Given the description of an element on the screen output the (x, y) to click on. 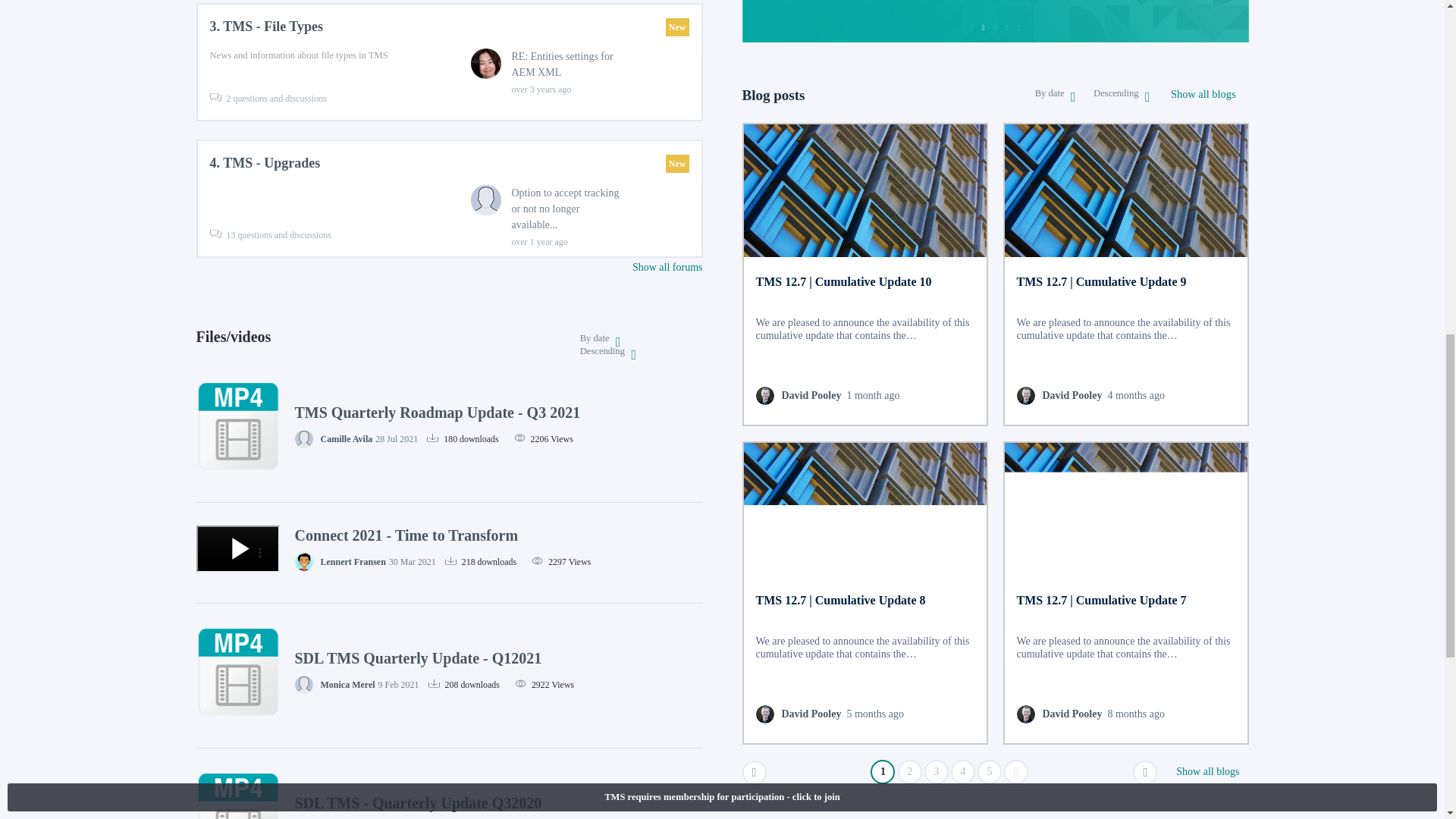
Go to last page (1015, 771)
Go to next page (1144, 772)
Go to page 4 (962, 771)
Go to page 1 (882, 771)
Go to page 2 (909, 771)
Go to page 5 (988, 771)
Go to page 3 (936, 771)
